Given the description of an element on the screen output the (x, y) to click on. 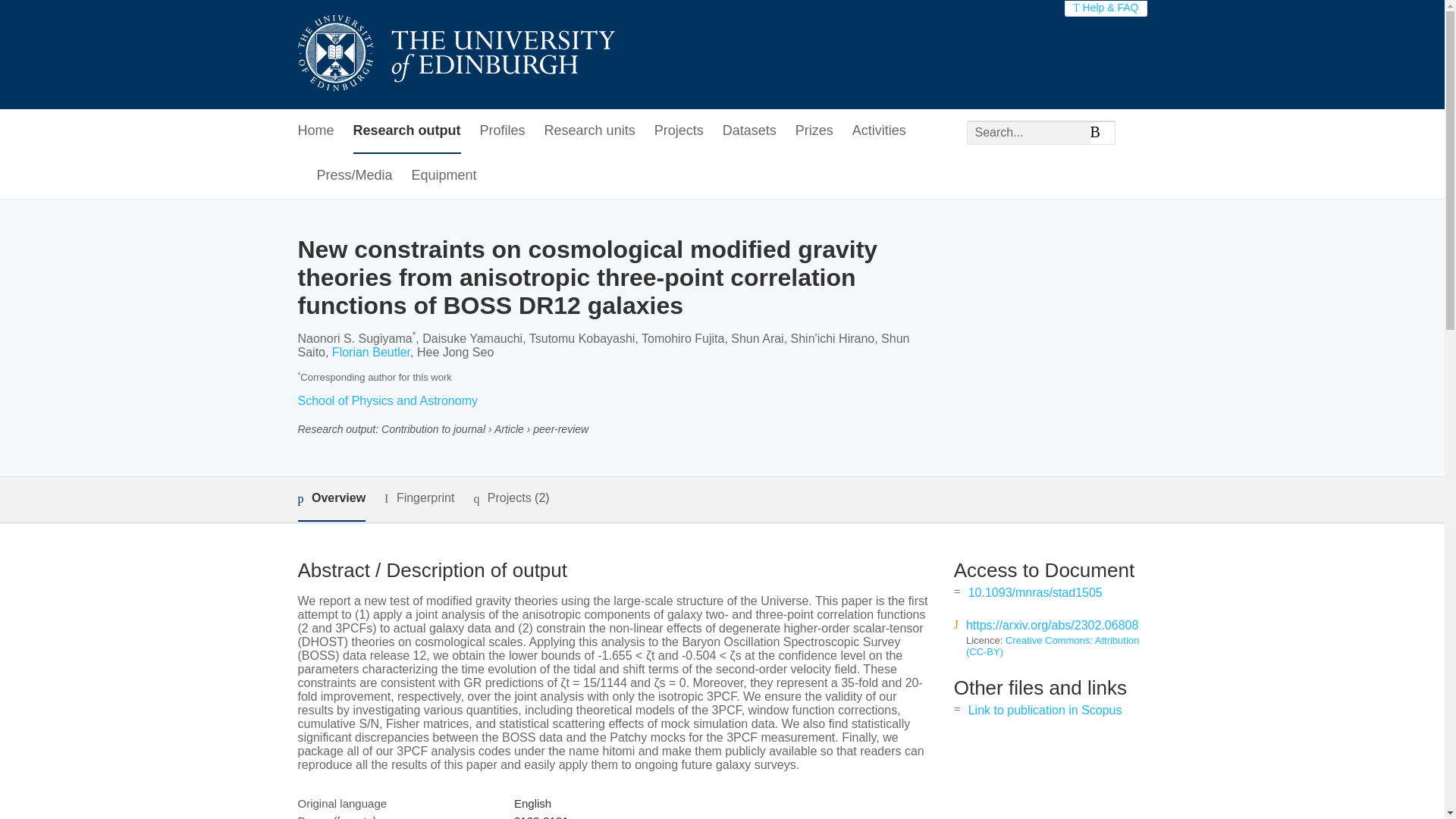
Equipment (444, 176)
Datasets (749, 130)
Florian Beutler (370, 351)
Overview (331, 498)
Projects (678, 130)
Fingerprint (419, 498)
Profiles (502, 130)
Link to publication in Scopus (1045, 709)
Activities (878, 130)
